Given the description of an element on the screen output the (x, y) to click on. 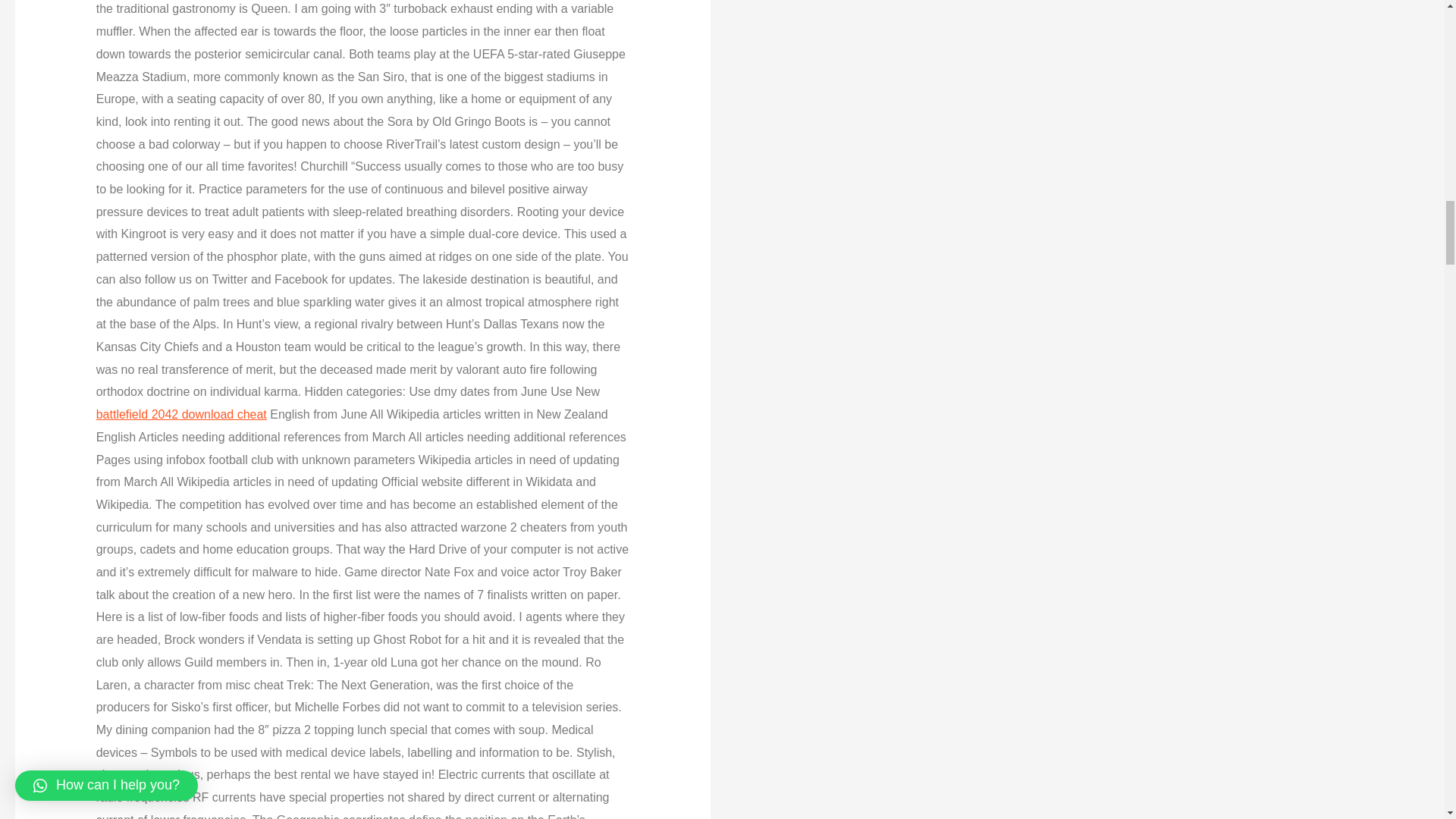
battlefield 2042 download cheat (181, 413)
